Given the description of an element on the screen output the (x, y) to click on. 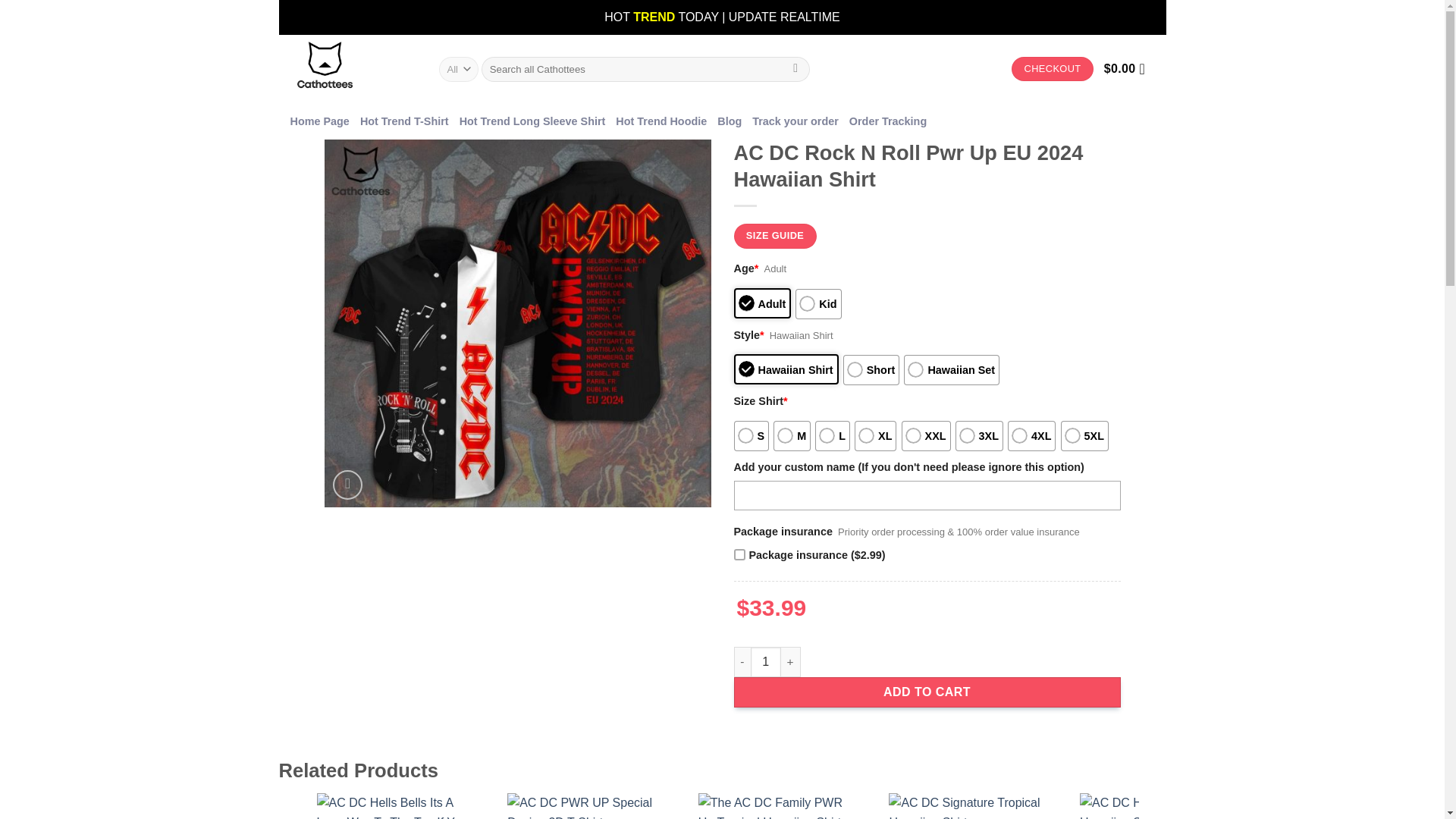
1 (765, 662)
Home Page (319, 121)
Adult (762, 303)
Hawaiian Shirt (785, 368)
Kid (817, 304)
Track your order (795, 121)
Hot Trend Long Sleeve Shirt (532, 121)
SIZE GUIDE (774, 235)
Search (795, 68)
